Given the description of an element on the screen output the (x, y) to click on. 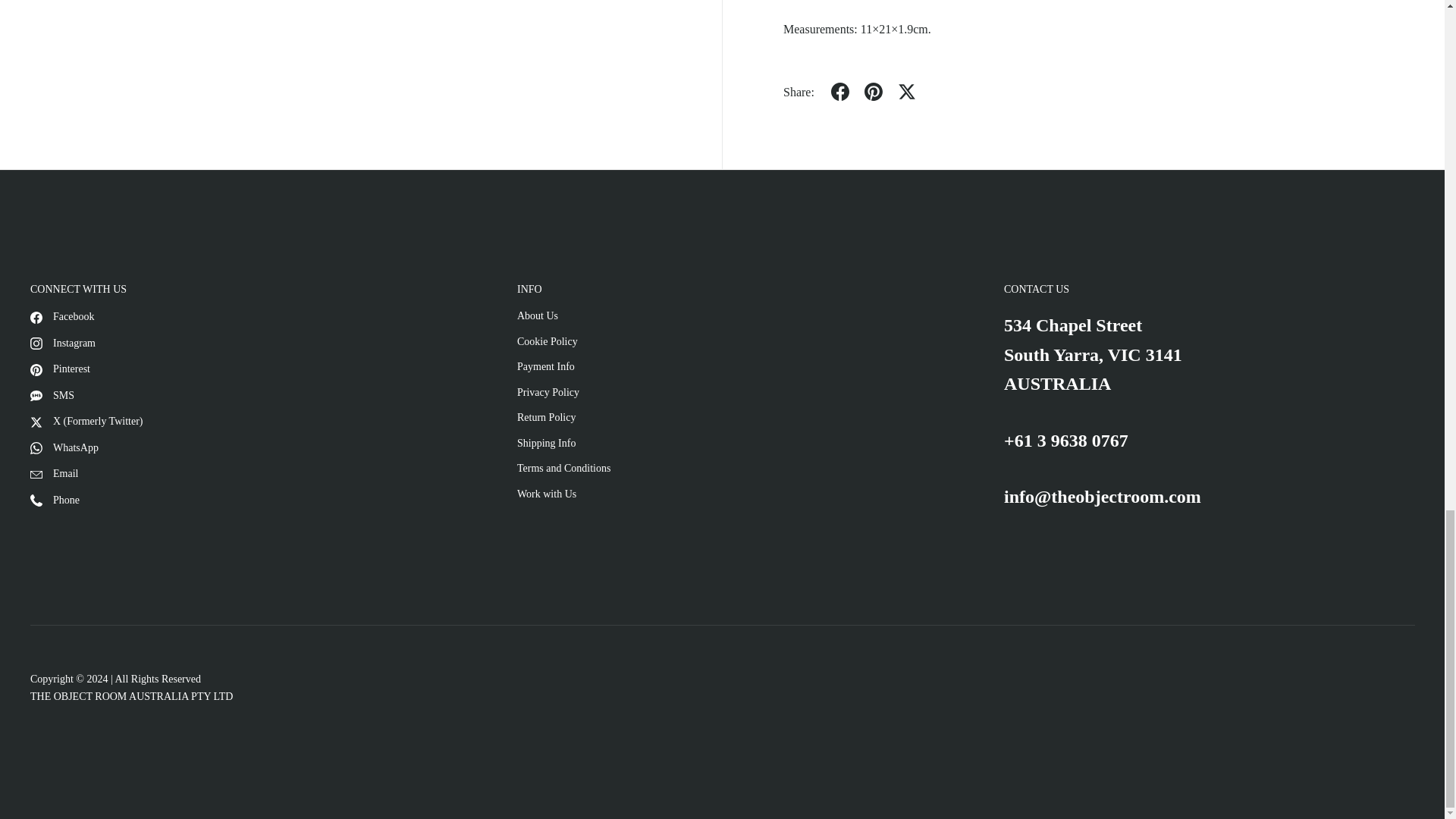
CALL US (1066, 440)
EMAIL US (1102, 496)
VISIT US (1093, 354)
